Given the description of an element on the screen output the (x, y) to click on. 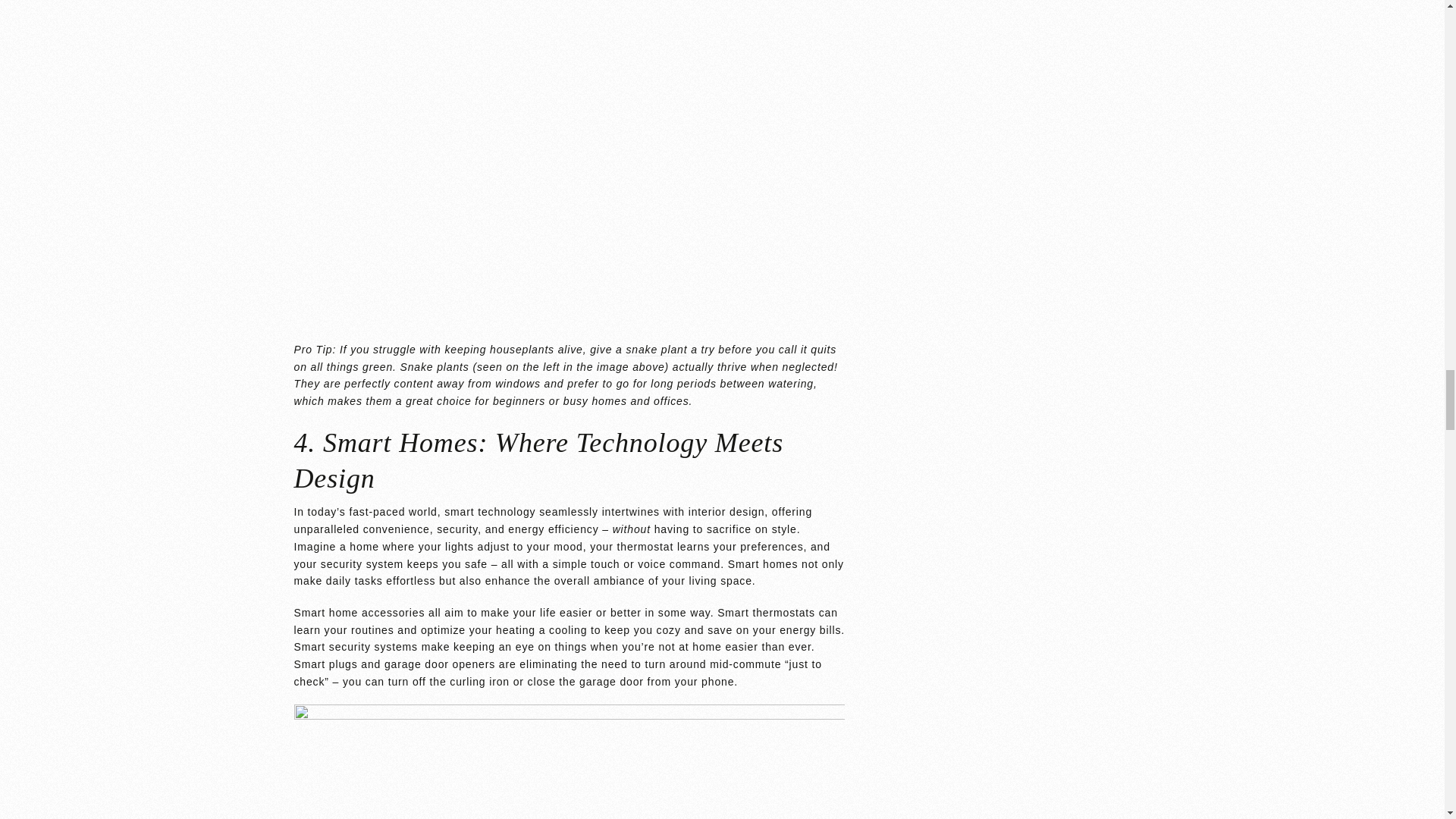
snake plant (656, 349)
